Given the description of an element on the screen output the (x, y) to click on. 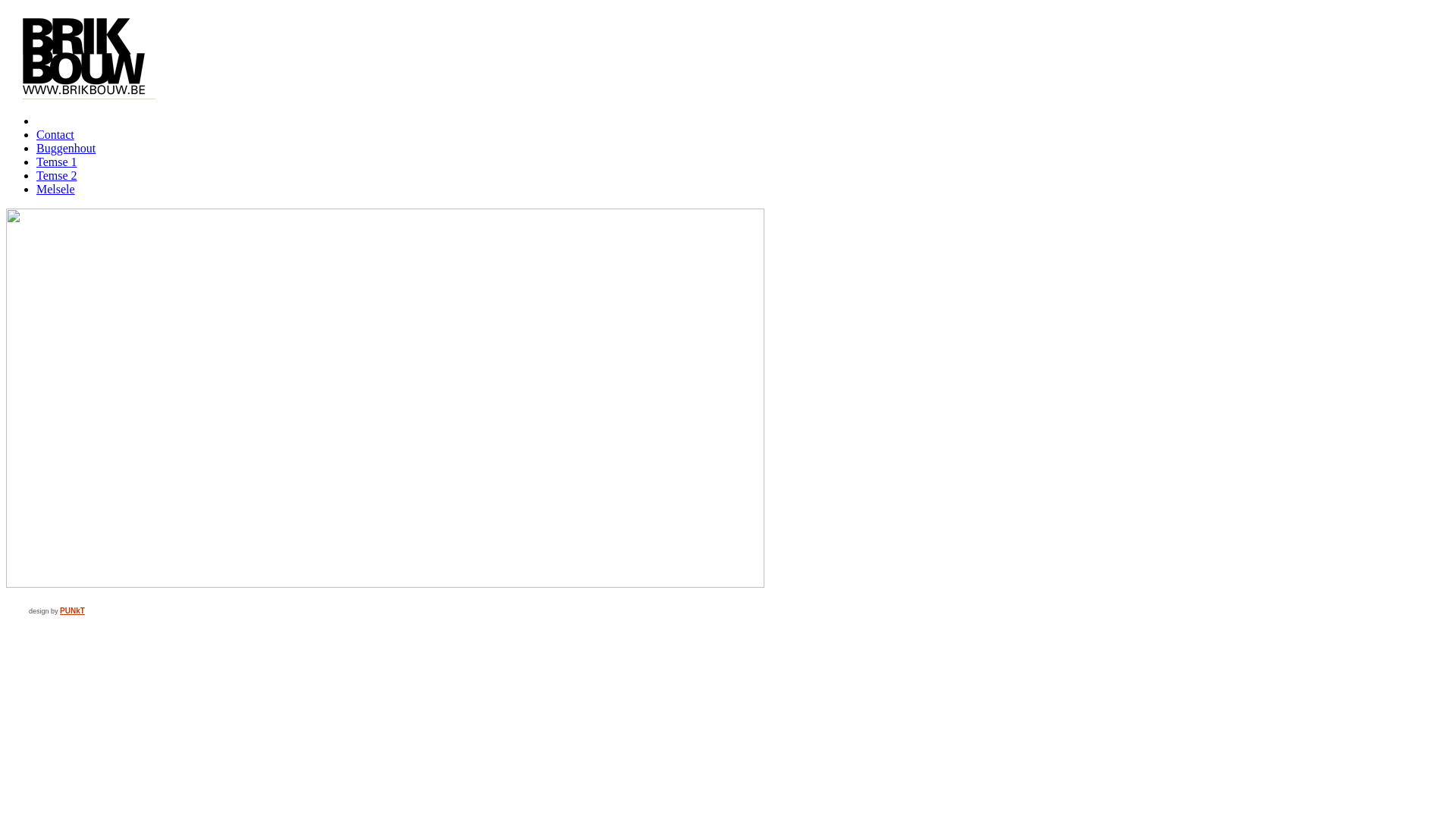
Contact Element type: text (55, 134)
Temse 2 Element type: text (56, 175)
Melsele Element type: text (55, 188)
Home Element type: text (50, 120)
Temse 1 Element type: text (56, 161)
PUNkT Element type: text (71, 610)
Buggenhout Element type: text (65, 147)
